Given the description of an element on the screen output the (x, y) to click on. 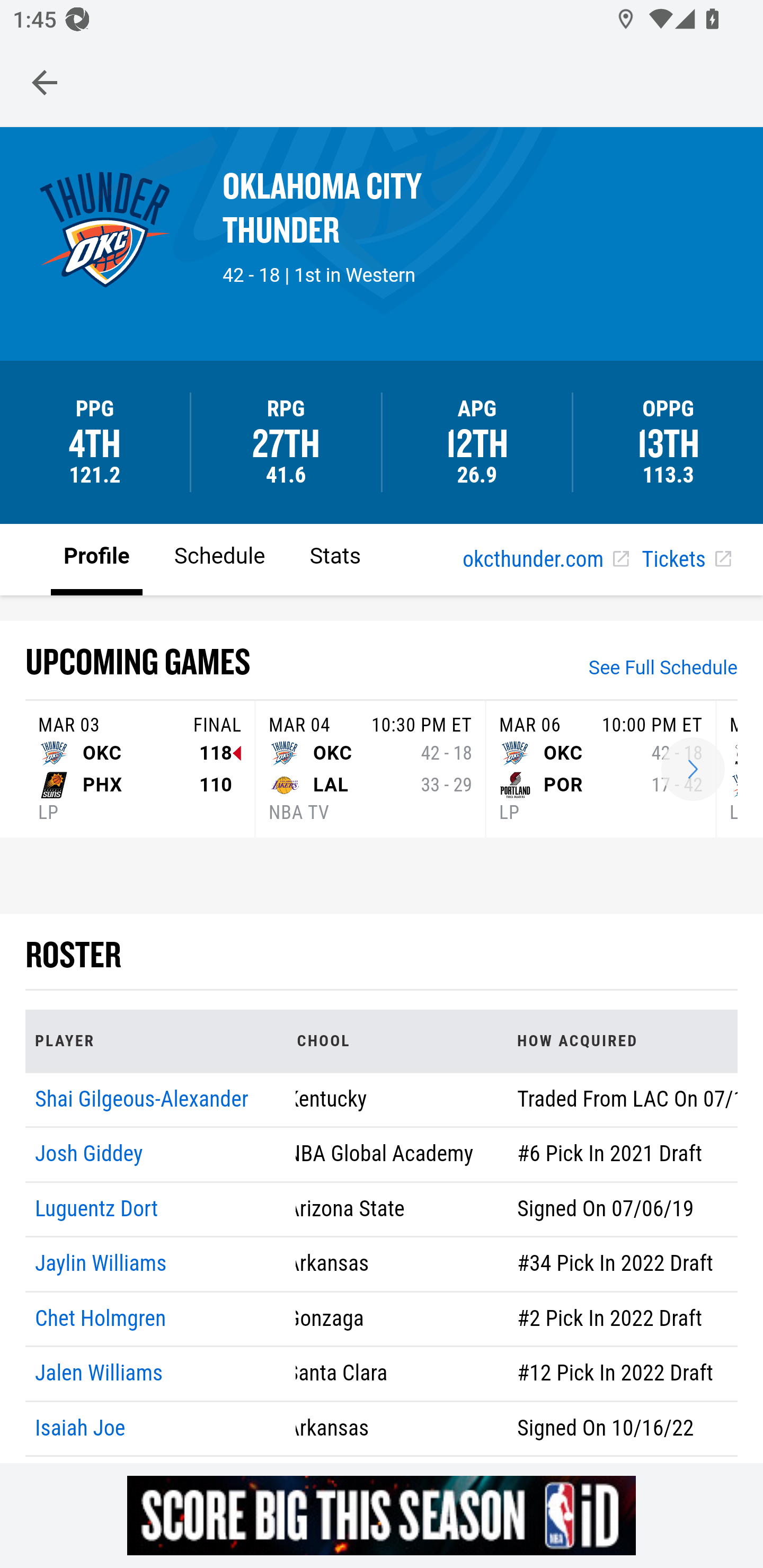
Navigate up (44, 82)
Profile (97, 558)
Schedule (219, 558)
Stats (335, 558)
okcthunder.com (544, 560)
Tickets (685, 560)
See Full Schedule (662, 669)
Match-up Scores (692, 769)
Shai Gilgeous-Alexander (142, 1098)
Josh Giddey (89, 1154)
Luguentz Dort (96, 1207)
Jaylin Williams (101, 1264)
Chet Holmgren (101, 1317)
Jalen Williams (99, 1374)
Isaiah Joe (80, 1427)
